Given the description of an element on the screen output the (x, y) to click on. 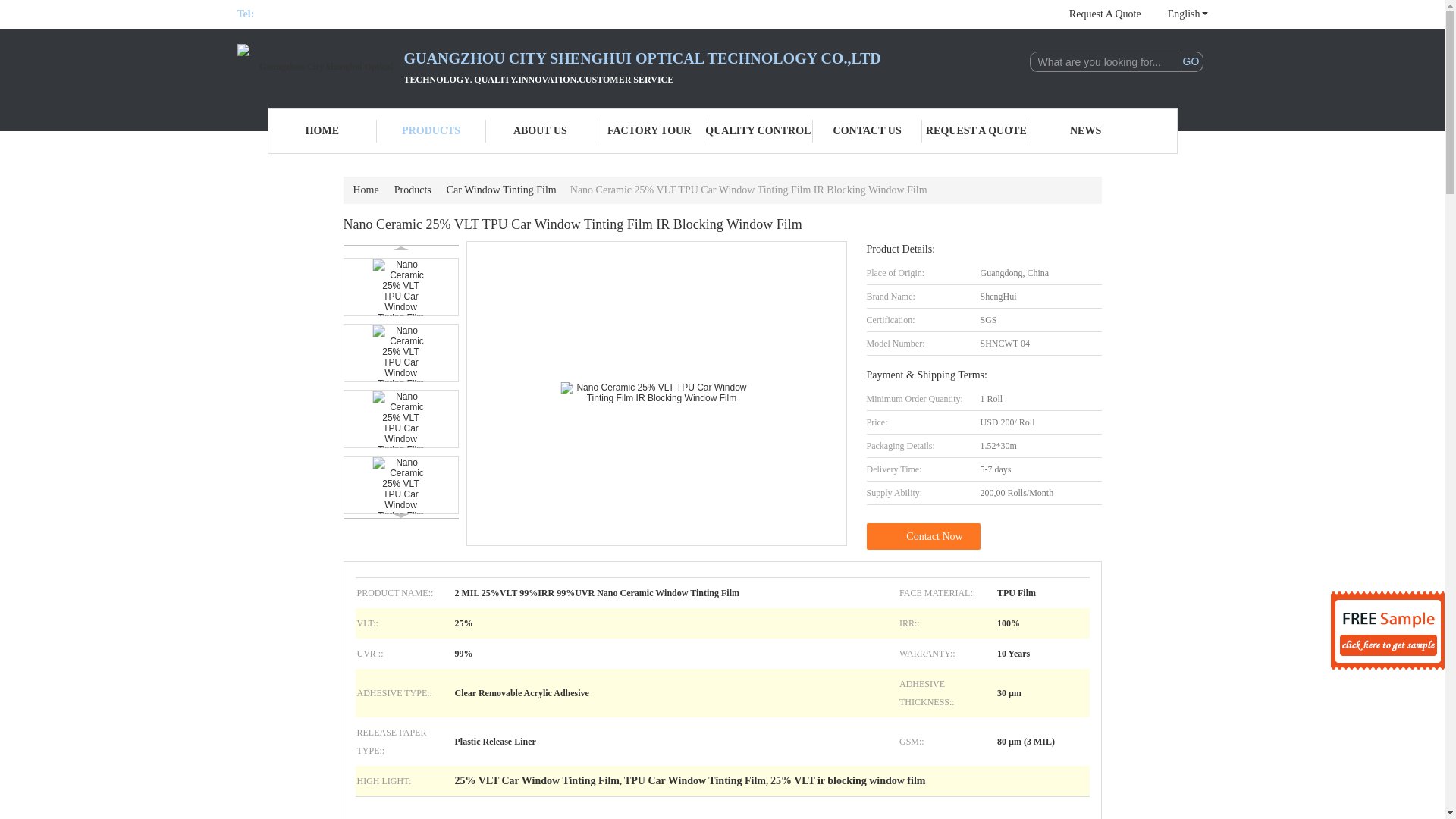
Request A Quote (1104, 14)
GO (1190, 61)
English (1180, 14)
PRODUCTS (431, 130)
GO (1190, 61)
HOME (322, 130)
